Given the description of an element on the screen output the (x, y) to click on. 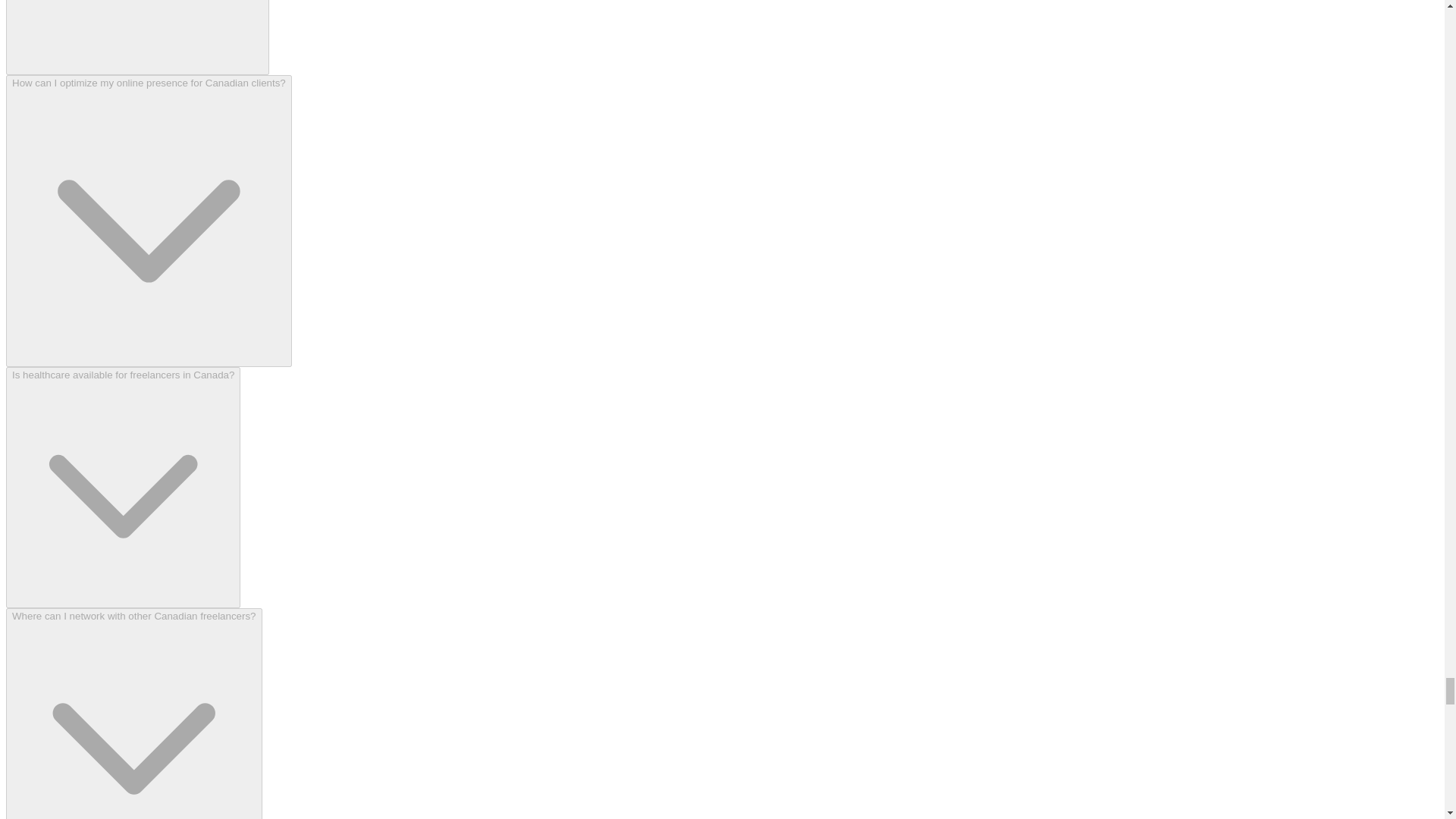
Can international freelancers work for Canadian clients? (137, 37)
How can I optimize my online presence for Canadian clients? (148, 220)
Is healthcare available for freelancers in Canada? (122, 486)
Where can I network with other Canadian freelancers? (133, 713)
